Given the description of an element on the screen output the (x, y) to click on. 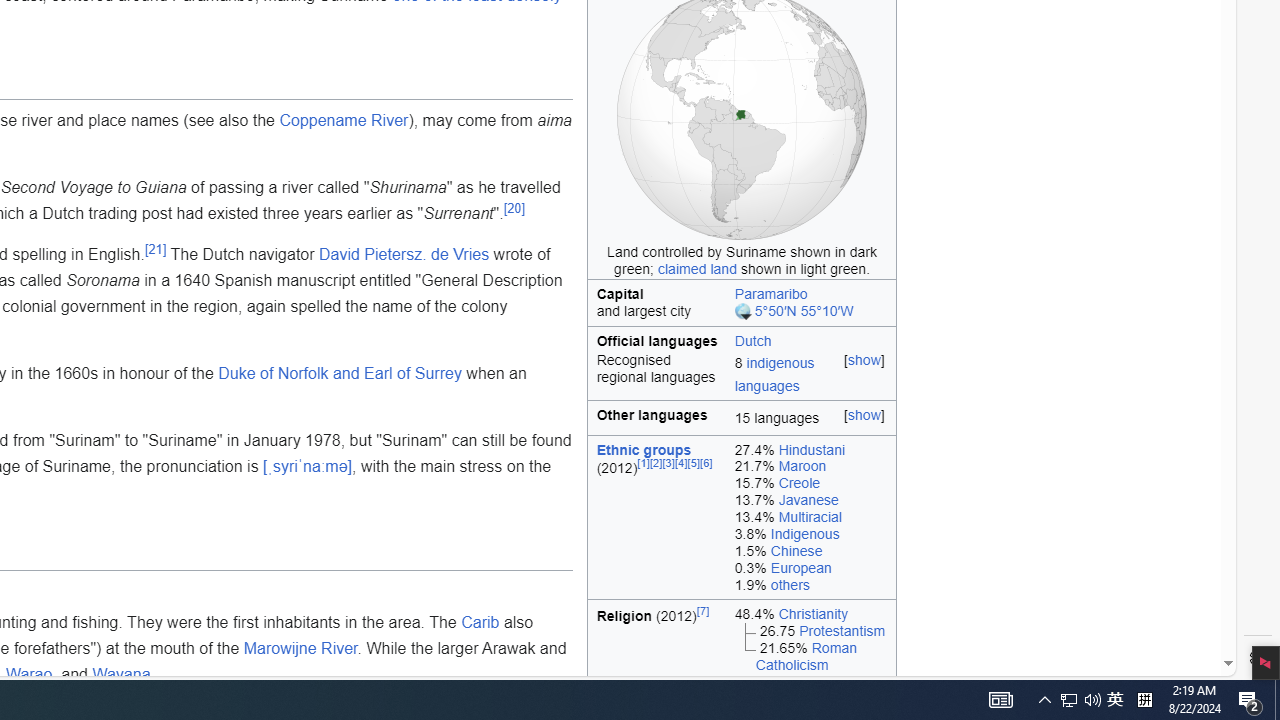
Multiracial (810, 517)
Duke of Norfolk and Earl of Surrey (339, 373)
1.5% Chinese (810, 551)
Class: mergedrow (742, 376)
Carib (480, 623)
26.75 Protestantism (810, 631)
[show] (864, 415)
Creole (799, 483)
Javanese (808, 500)
3.8% Indigenous (810, 534)
21.65% Roman Catholicism (810, 656)
[20] (514, 208)
[3] (667, 463)
